Given the description of an element on the screen output the (x, y) to click on. 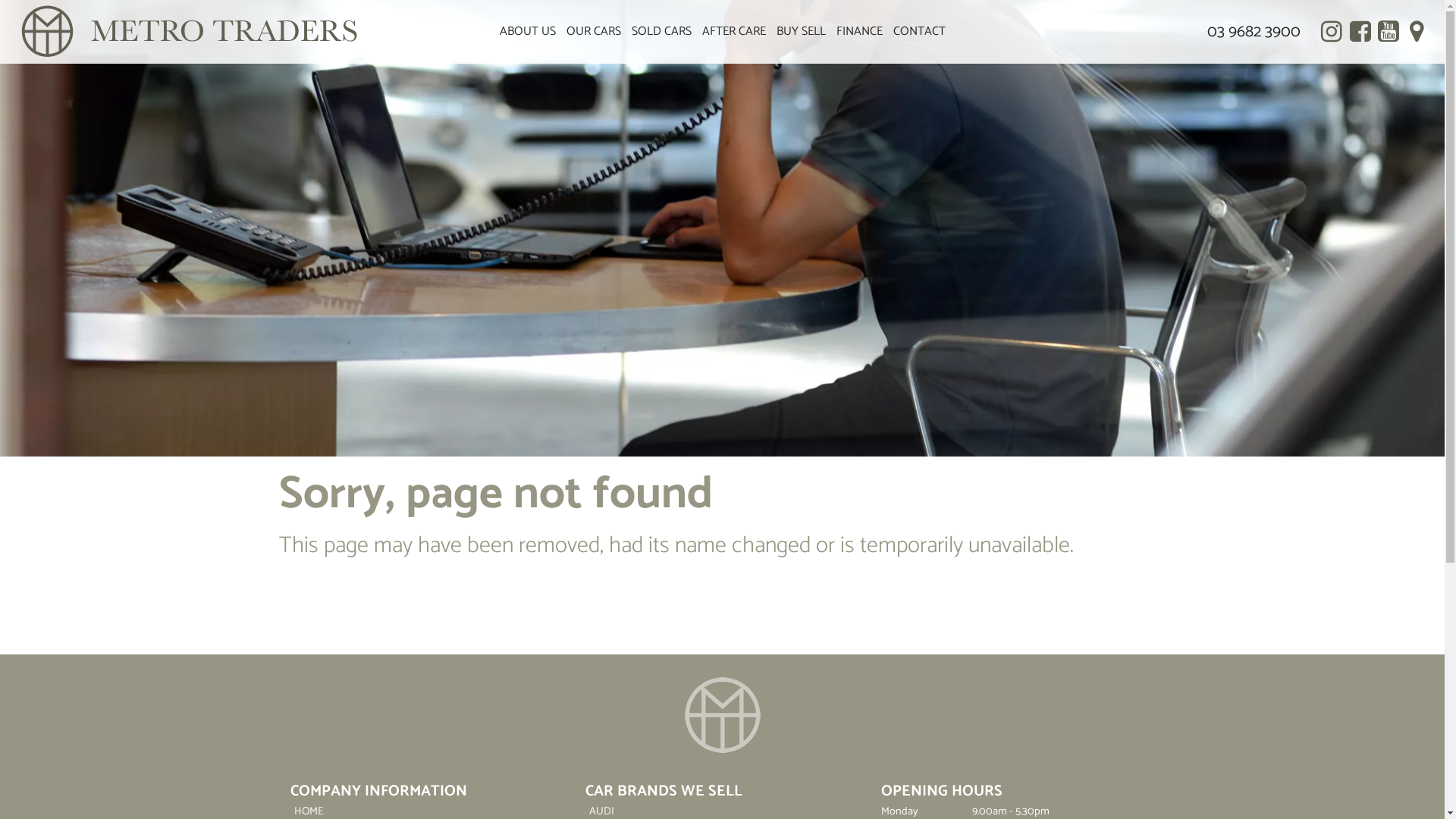
ABOUT US Element type: text (527, 31)
FINANCE Element type: text (859, 31)
BUY SELL Element type: text (800, 31)
CONTACT Element type: text (918, 31)
AFTER CARE Element type: text (733, 31)
03 9682 3900 Element type: text (1253, 31)
SOLD CARS Element type: text (661, 31)
OUR CARS Element type: text (593, 31)
